Given the description of an element on the screen output the (x, y) to click on. 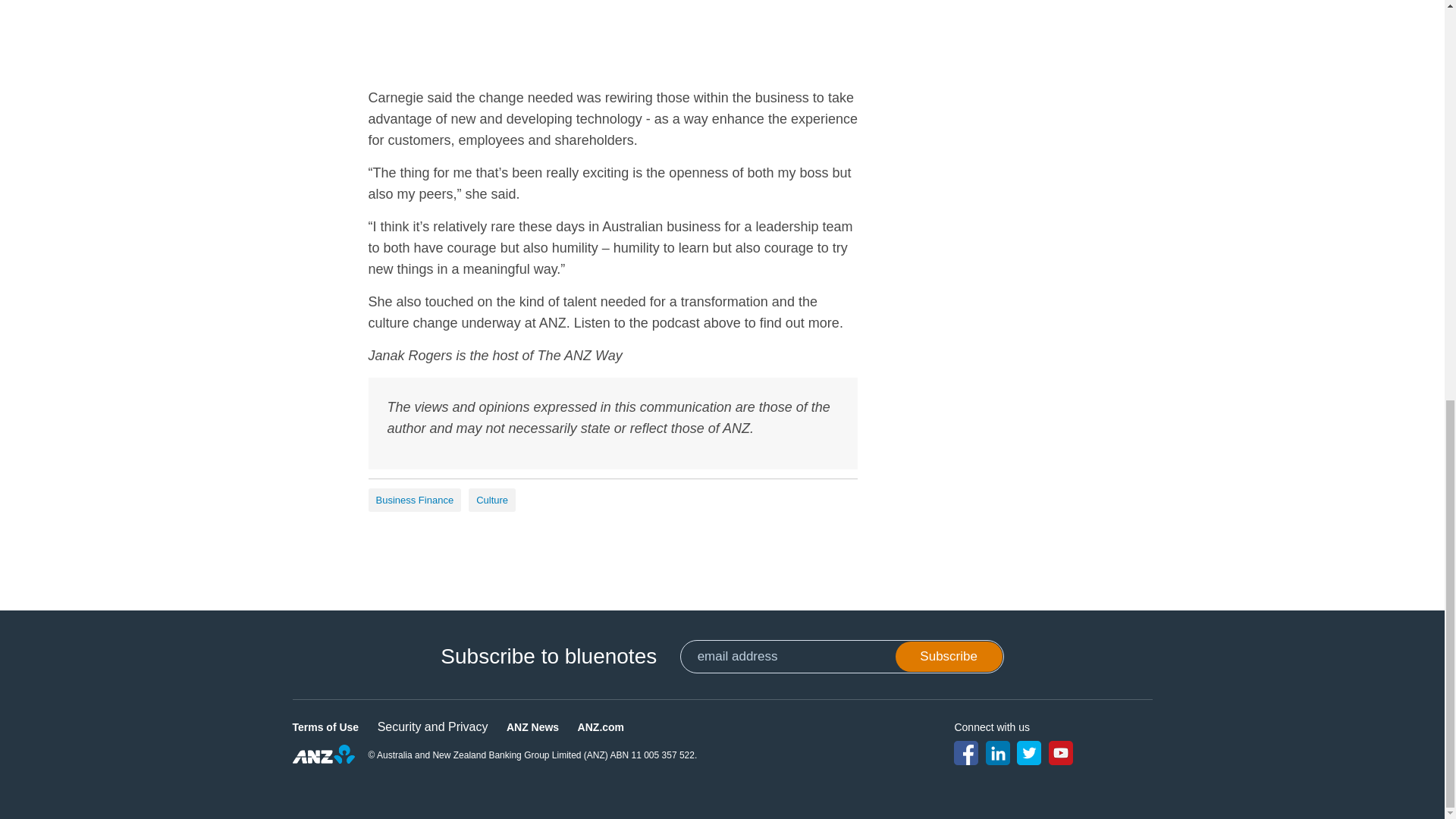
ANZ.com (601, 727)
Business Finance (414, 499)
Terms of Use (325, 727)
Culture (491, 499)
ANZ News (532, 727)
